Given the description of an element on the screen output the (x, y) to click on. 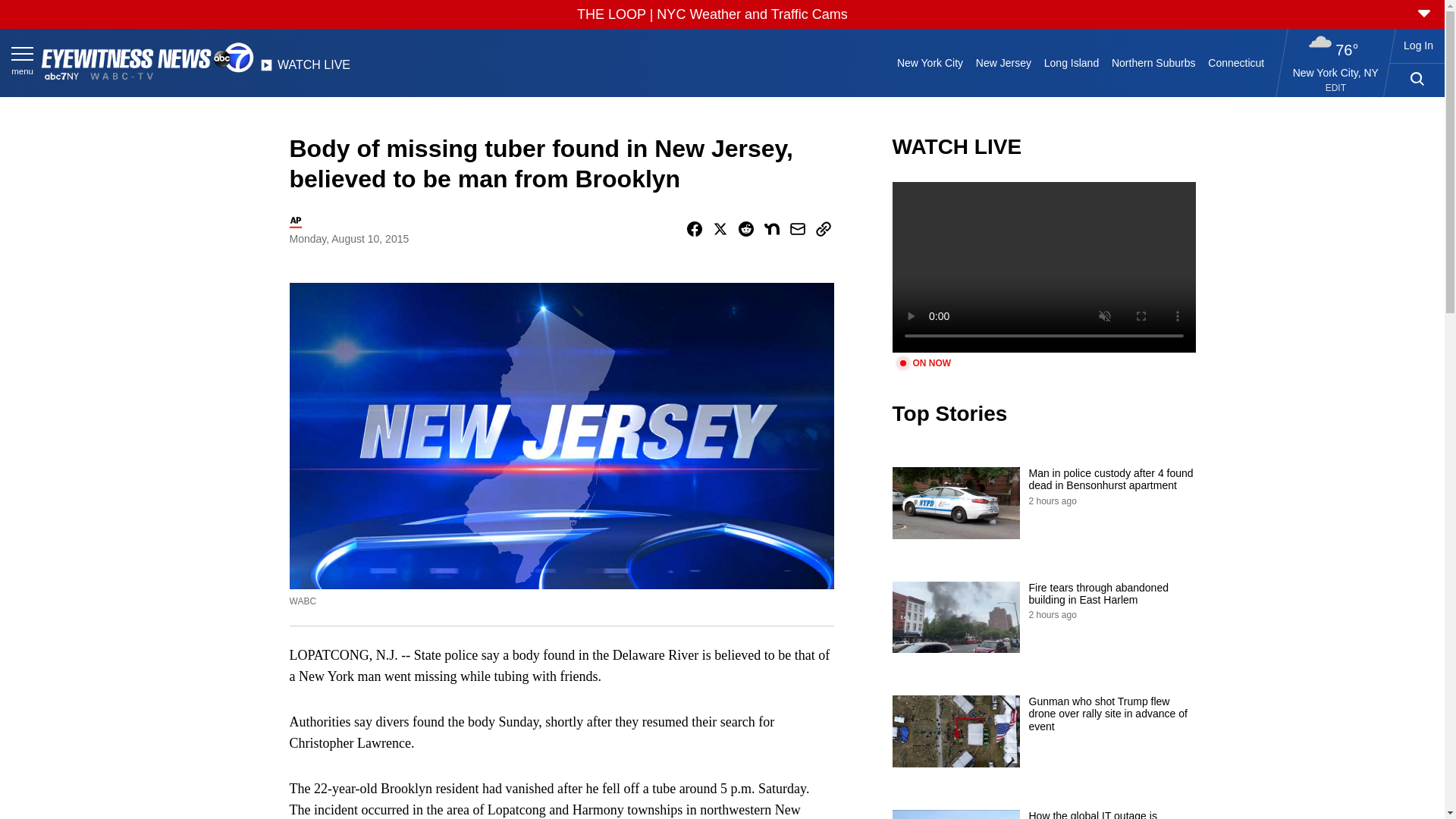
Connecticut (1236, 62)
New York City (930, 62)
New Jersey (1002, 62)
Northern Suburbs (1153, 62)
Long Island (1070, 62)
EDIT (1334, 87)
New York City, NY (1335, 72)
video.title (1043, 266)
WATCH LIVE (305, 69)
